Given the description of an element on the screen output the (x, y) to click on. 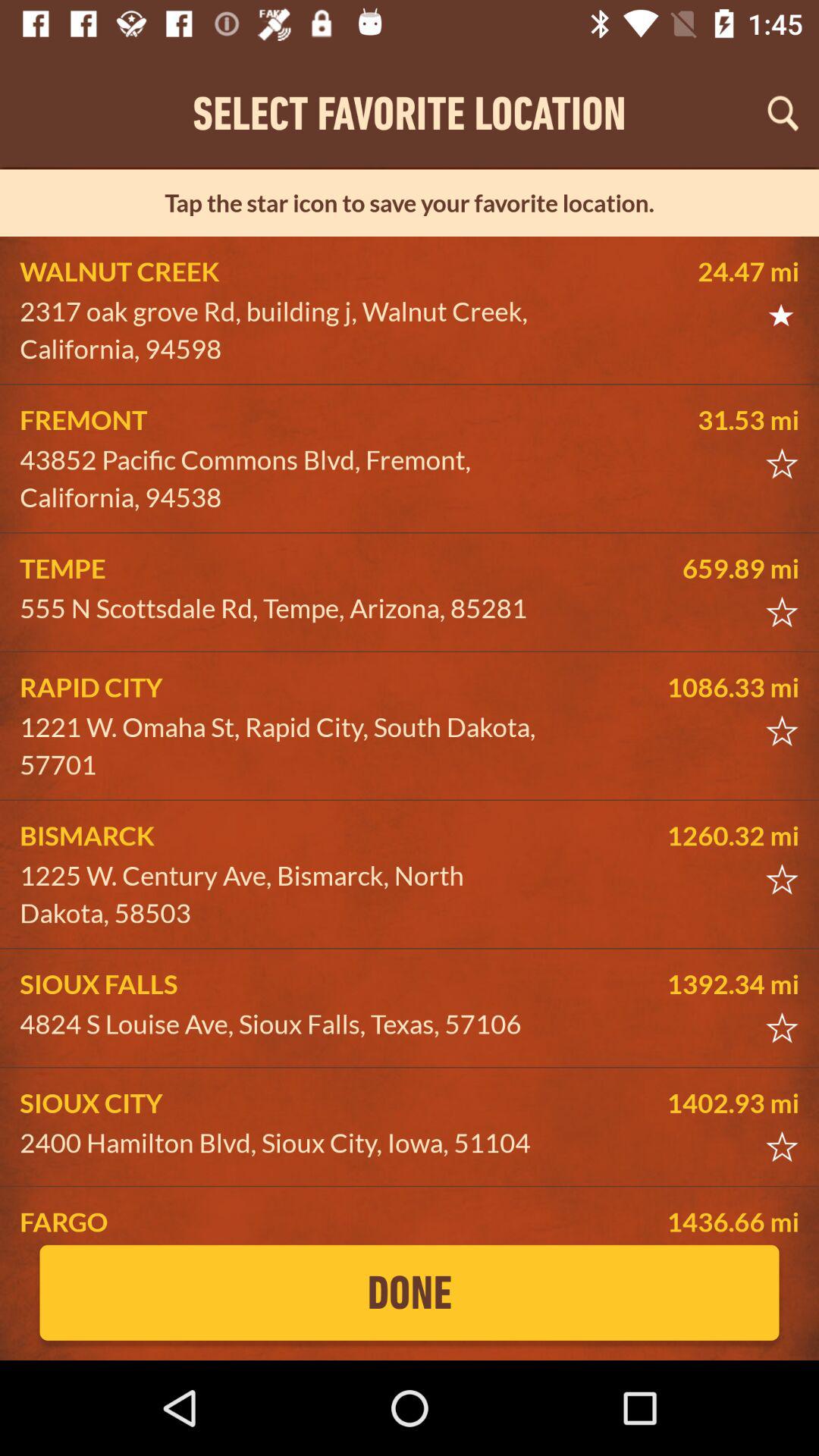
tap icon above the fargo (285, 1142)
